Given the description of an element on the screen output the (x, y) to click on. 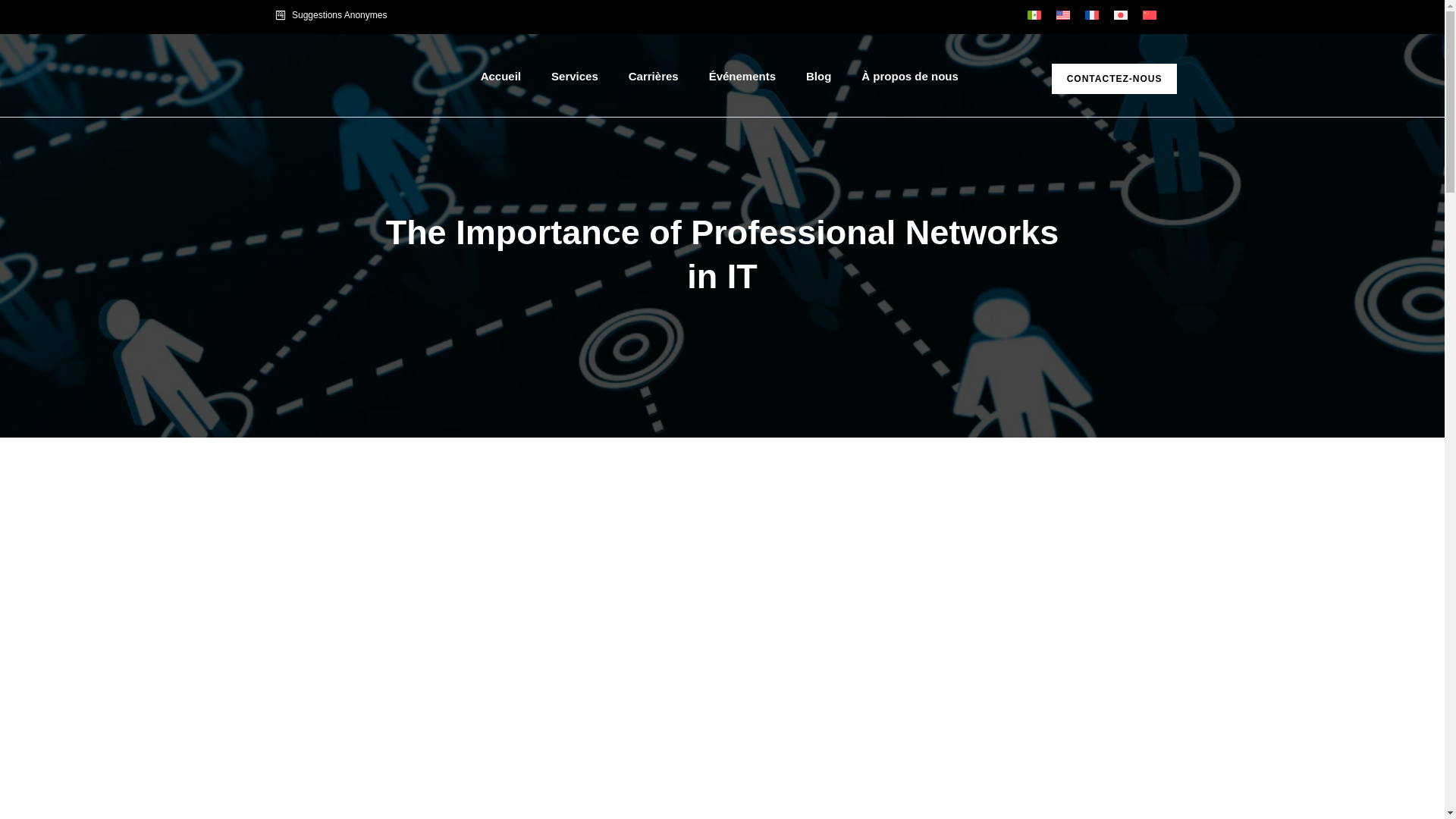
Accueil (500, 76)
The Importance of Professional Networks in IT (721, 254)
CONTACTEZ-NOUS (1114, 78)
Suggestions Anonymes (494, 14)
Services (573, 76)
Blog (817, 76)
Suggestions Anonymes (494, 14)
